Given the description of an element on the screen output the (x, y) to click on. 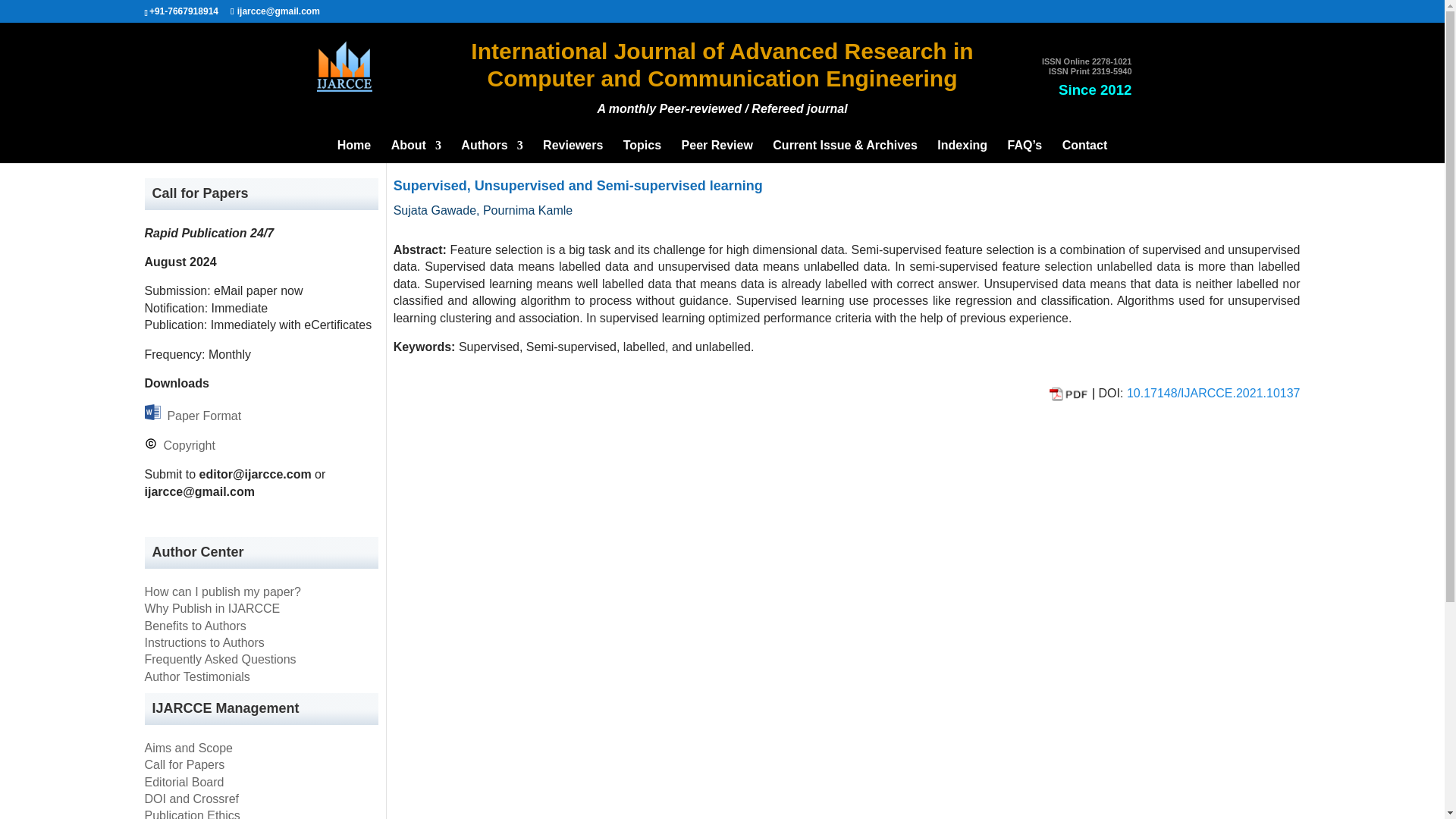
Home (354, 151)
Authors (491, 151)
About (416, 151)
  Paper Format (200, 415)
Contact (1085, 151)
Topics (642, 151)
Peer Review (716, 151)
Why Publish in IJARCCE (211, 608)
Indexing (962, 151)
